Given the description of an element on the screen output the (x, y) to click on. 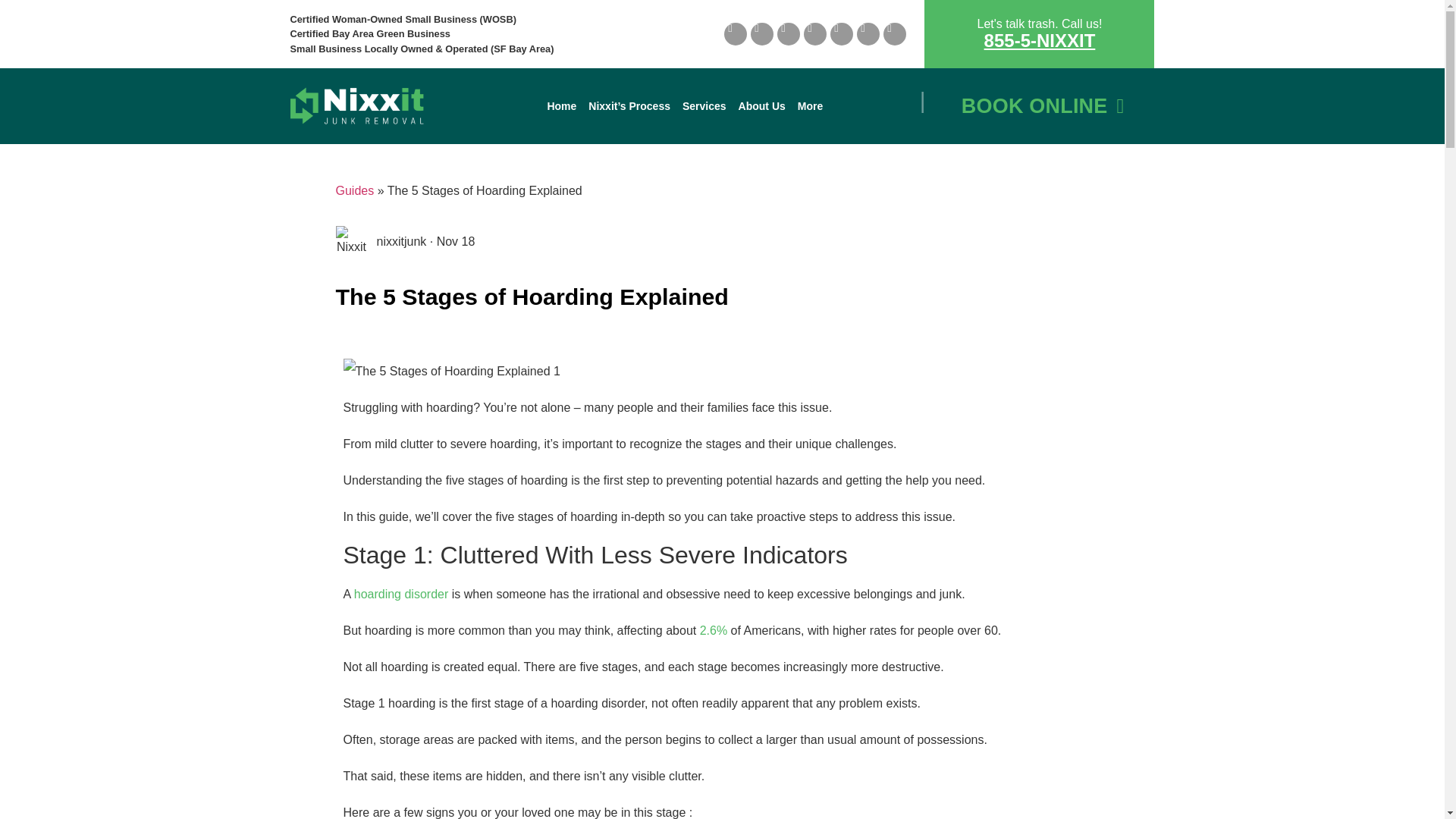
The 5 Stages of Hoarding Explained 1 (450, 371)
855-5-NIXXIT (1040, 40)
Let's talk trash. Call us! (1039, 23)
